Given the description of an element on the screen output the (x, y) to click on. 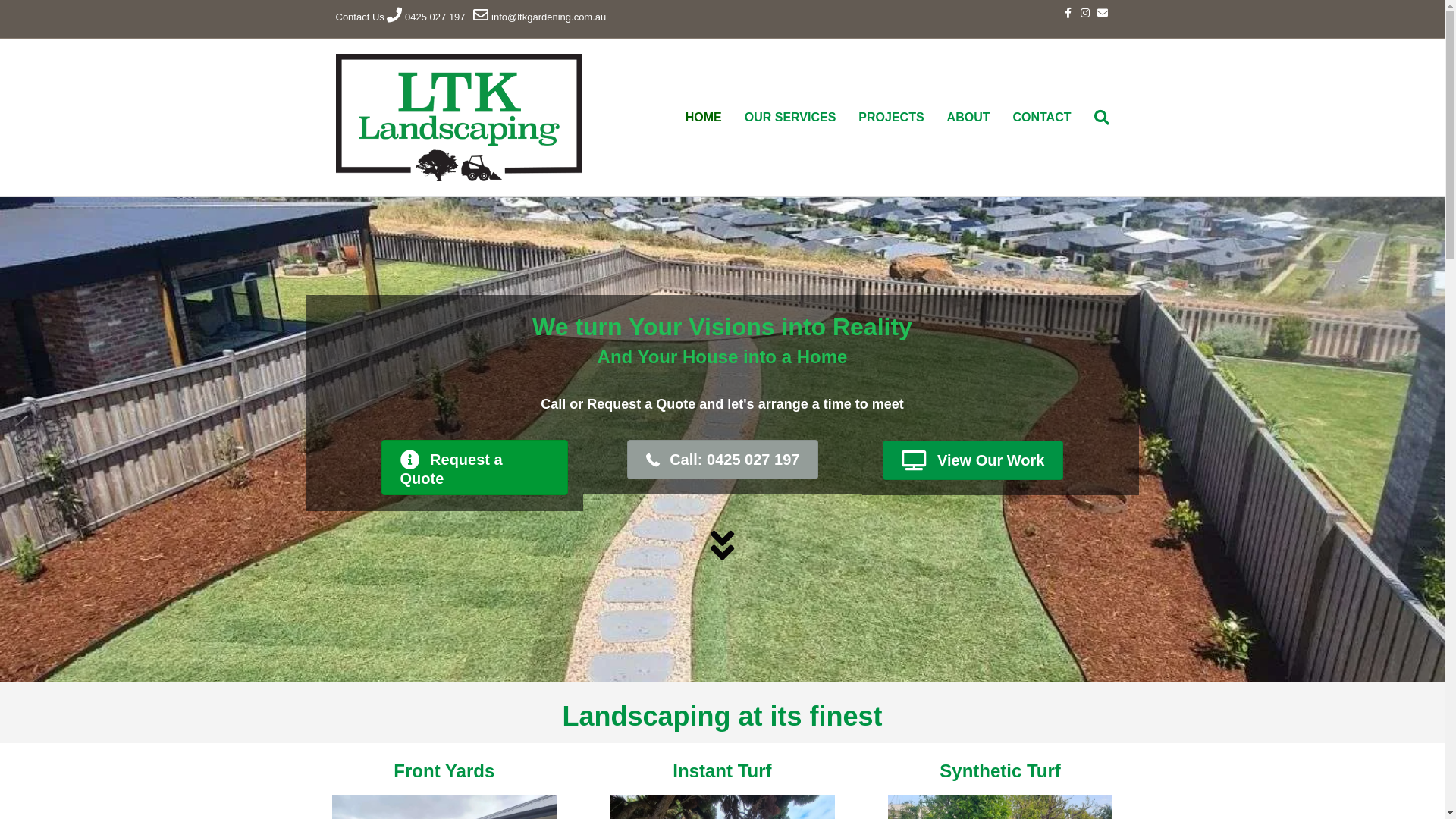
View Our Work Element type: text (972, 460)
Request a Quote Element type: text (473, 467)
Email Element type: text (1097, 11)
HOME Element type: text (703, 117)
Instant Turf Element type: text (721, 770)
OUR SERVICES Element type: text (790, 117)
ABOUT Element type: text (968, 117)
PROJECTS Element type: text (891, 117)
CONTACT Element type: text (1041, 117)
0425 027 197 Element type: text (434, 16)
Facebook Element type: text (1061, 11)
Instagram Element type: text (1079, 11)
Call: 0425 027 197 Element type: text (723, 459)
Synthetic Turf Element type: text (999, 770)
Front Yards Element type: text (443, 770)
